Given the description of an element on the screen output the (x, y) to click on. 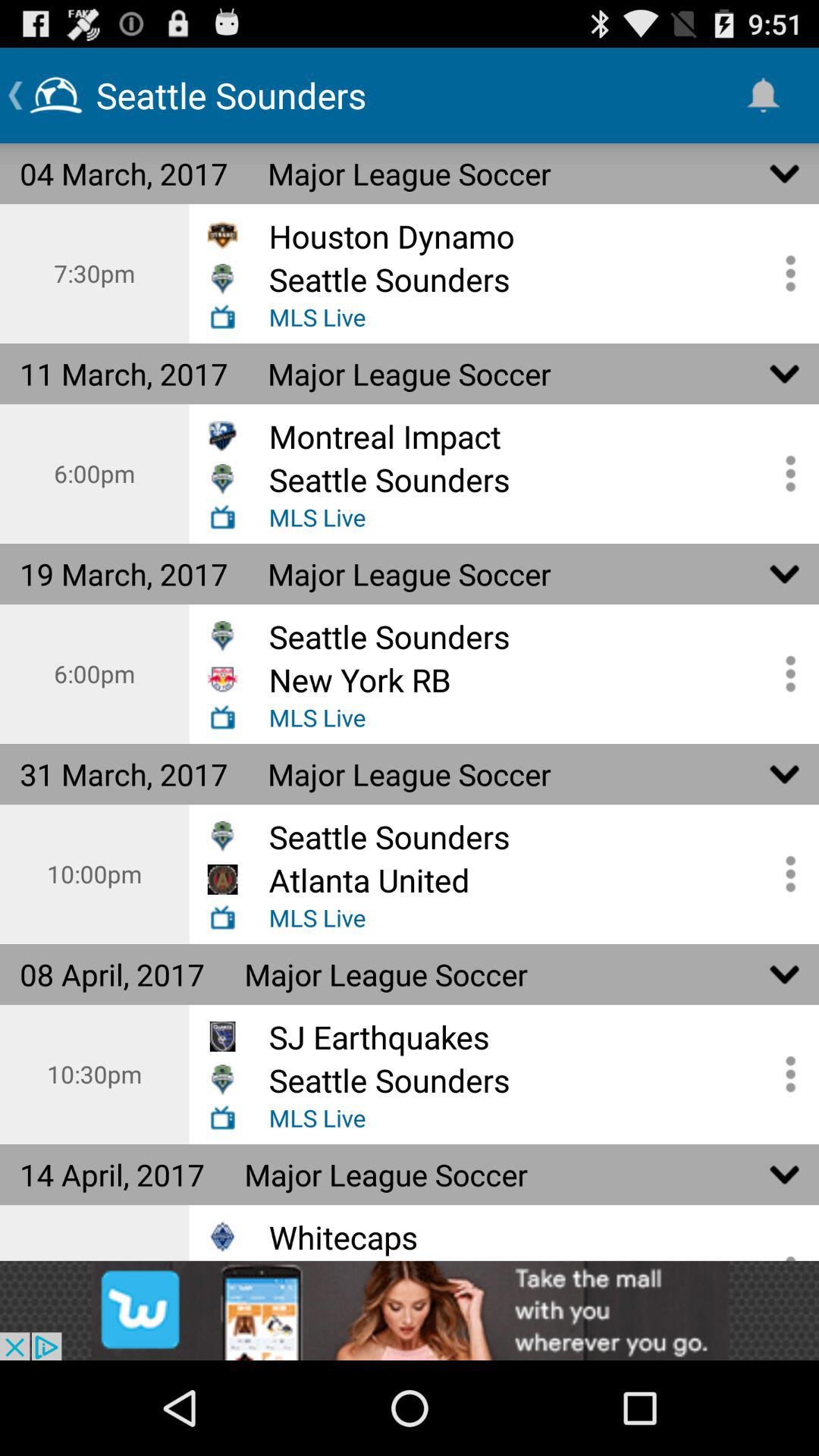
view additional information (785, 273)
